Given the description of an element on the screen output the (x, y) to click on. 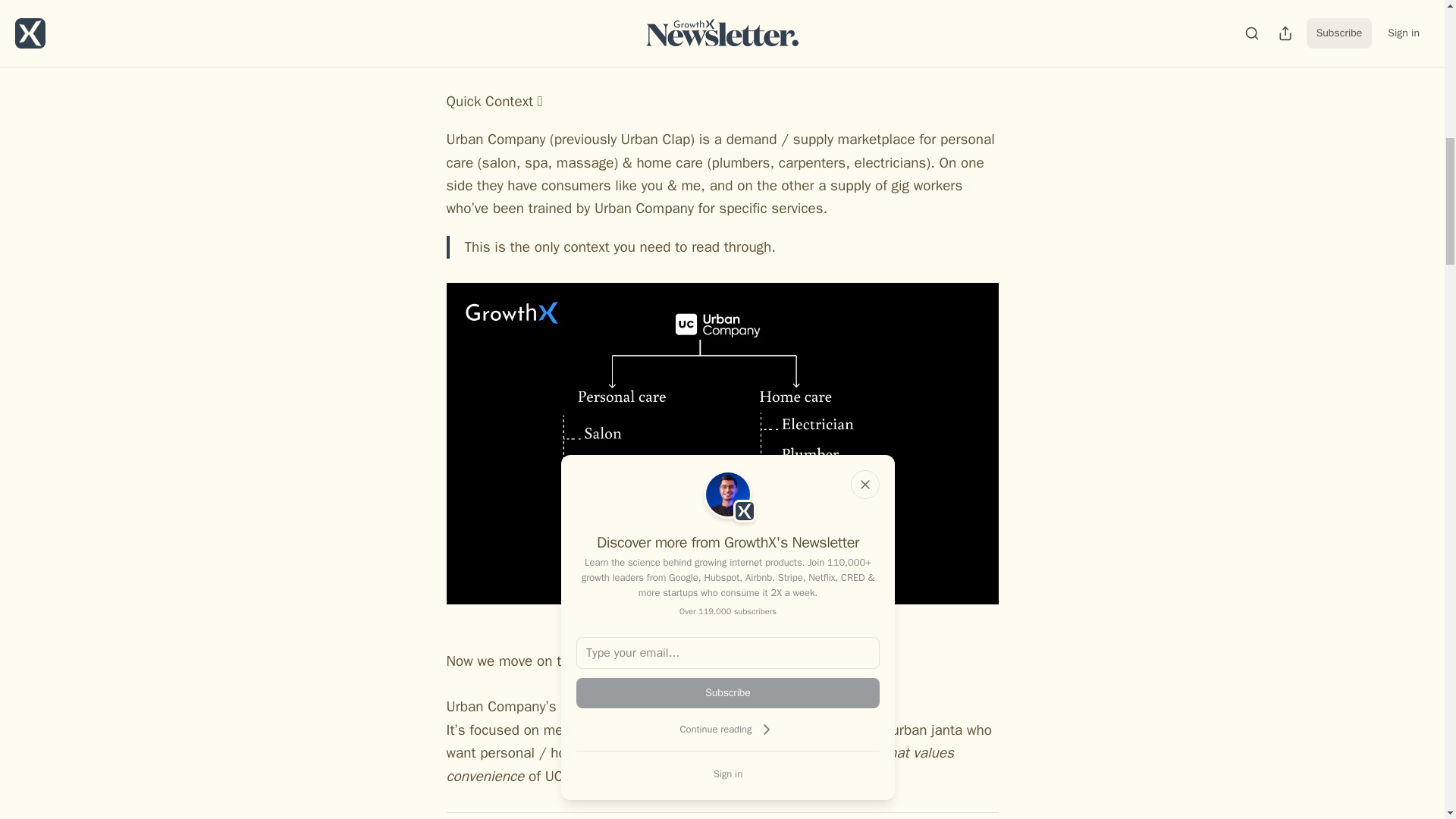
Sign in (727, 773)
Subscribe (727, 693)
